Given the description of an element on the screen output the (x, y) to click on. 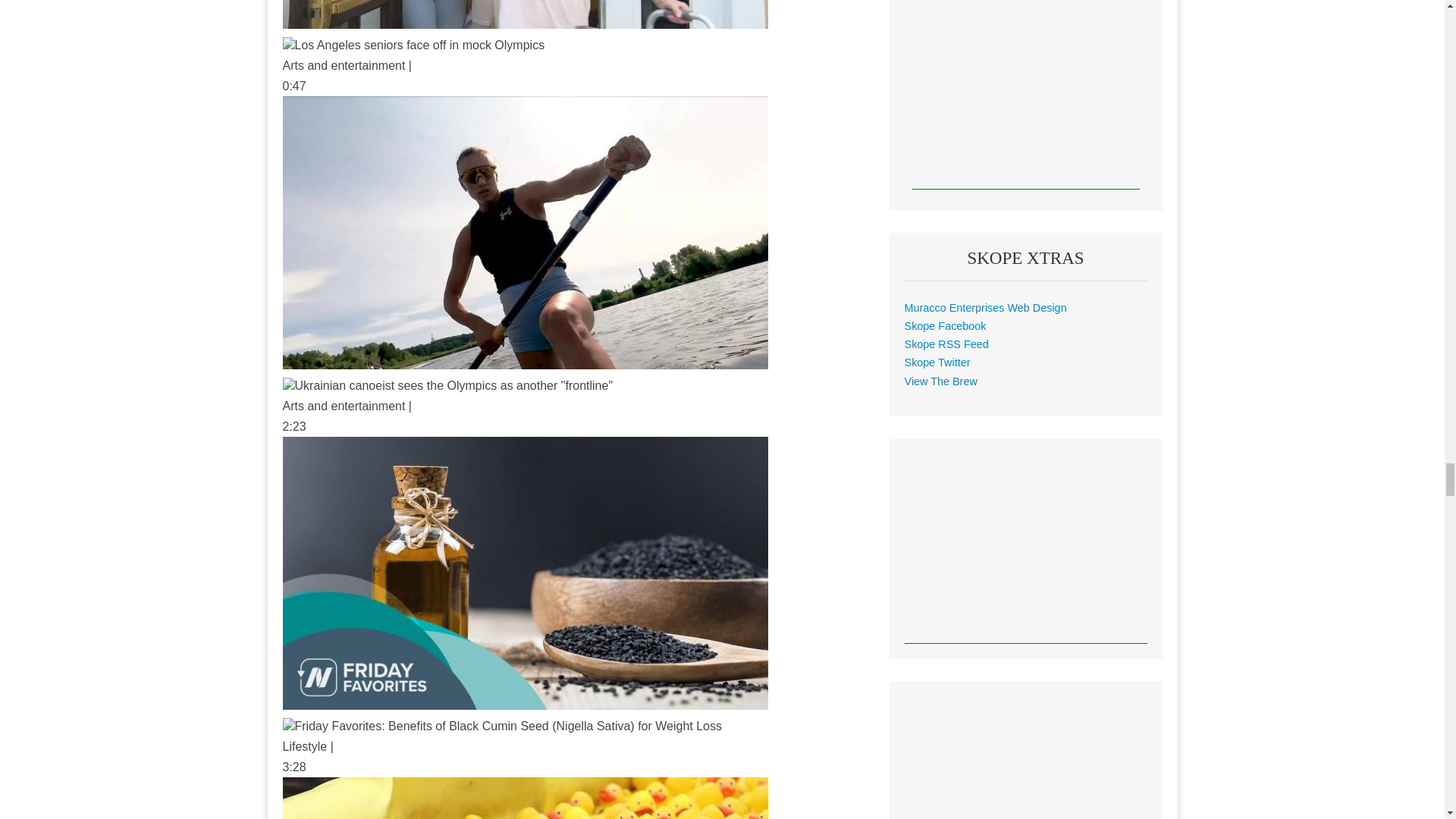
Skopemag.com RSS Feed (946, 344)
